Given the description of an element on the screen output the (x, y) to click on. 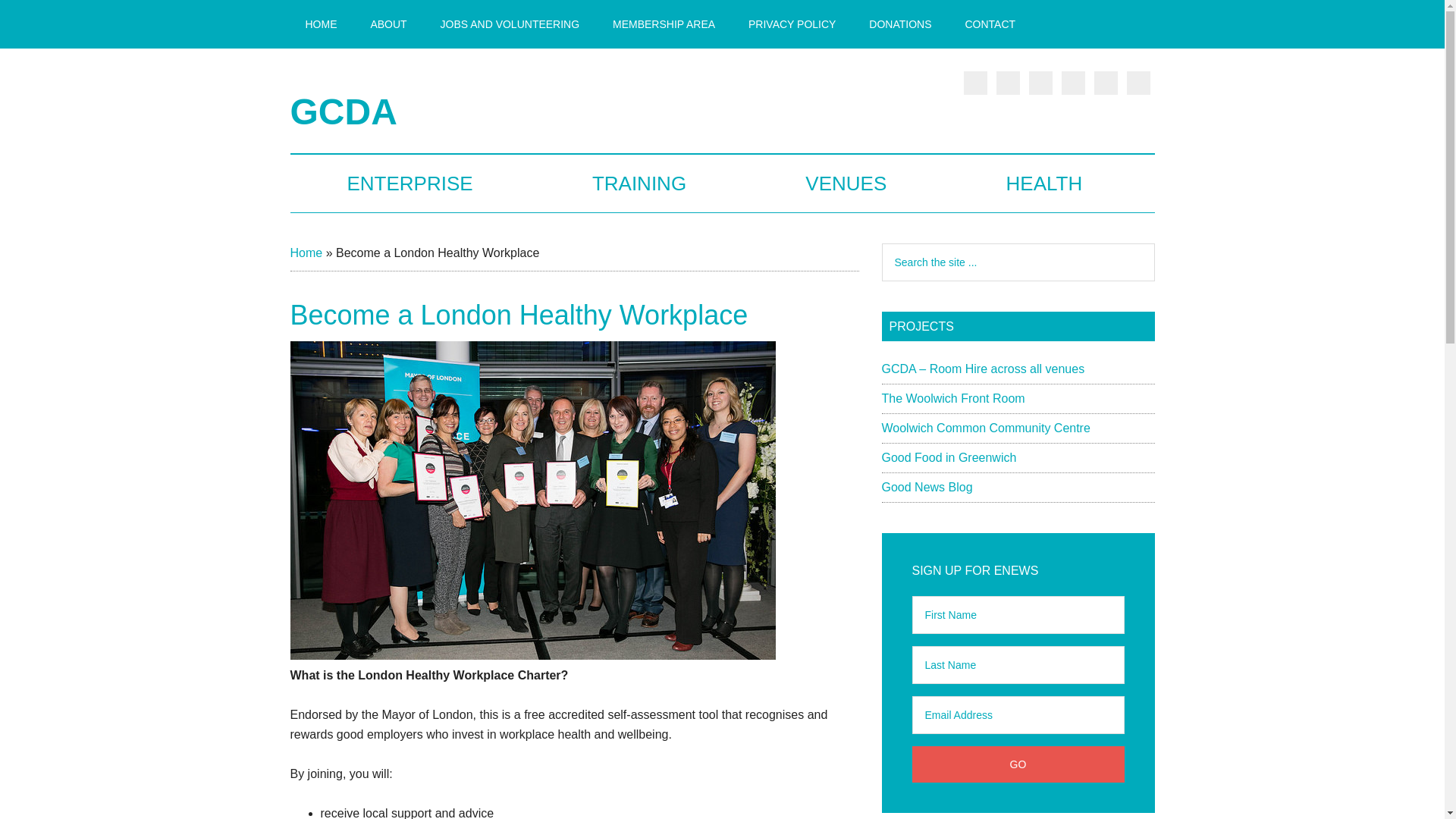
HOME (320, 24)
Woolwich Common Community Centre (984, 427)
TRAINING (638, 183)
Home (305, 252)
DONATIONS (899, 24)
GCDA (342, 111)
MEMBERSHIP AREA (663, 24)
PRIVACY POLICY (791, 24)
Become a London Healthy Workplace (531, 655)
